Given the description of an element on the screen output the (x, y) to click on. 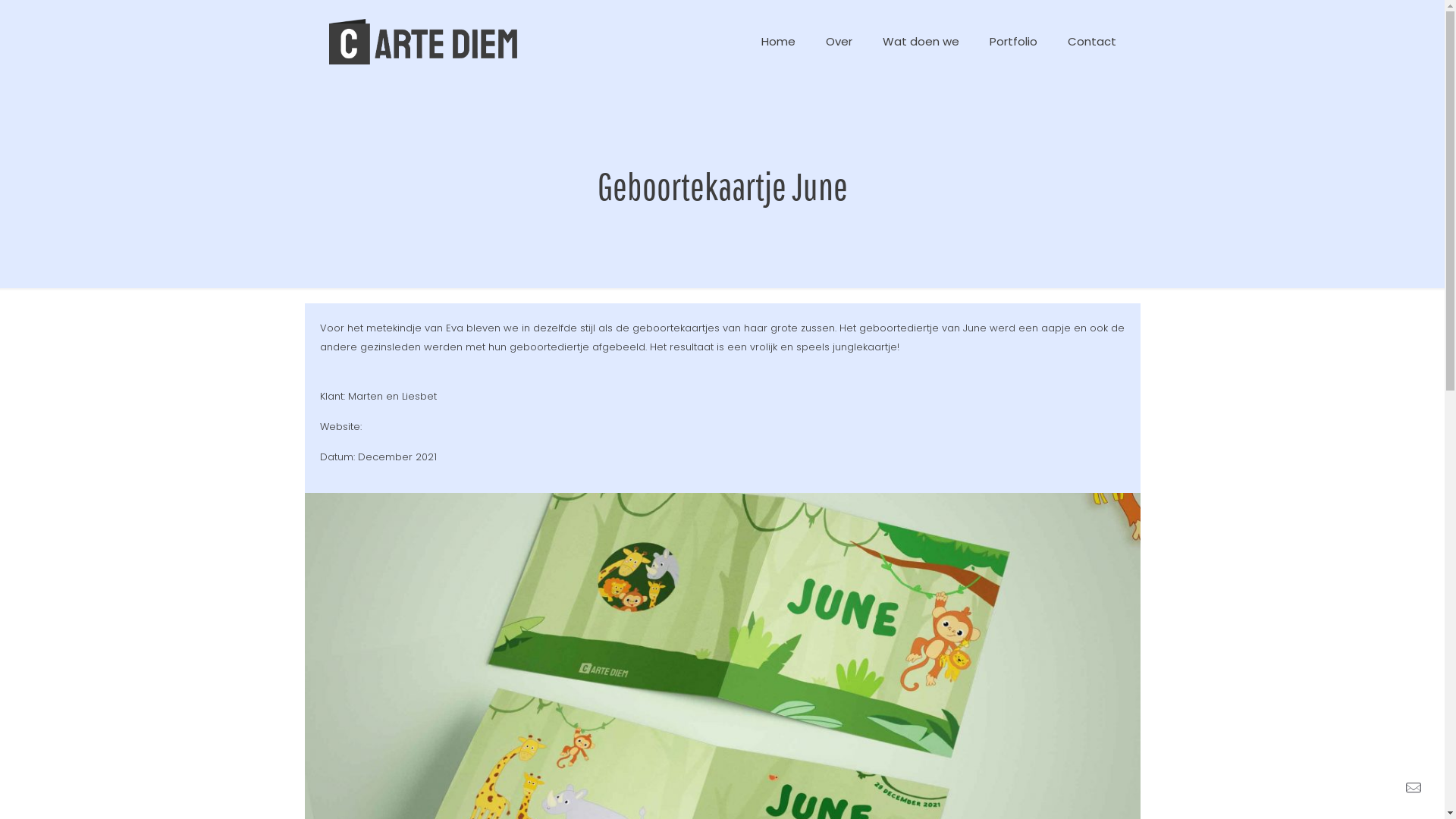
Portfolio Element type: text (1012, 41)
Contact Element type: text (1091, 41)
Wat doen we Element type: text (920, 41)
Over Element type: text (837, 41)
Home Element type: text (778, 41)
Carte Diem Element type: hover (423, 41)
